Given the description of an element on the screen output the (x, y) to click on. 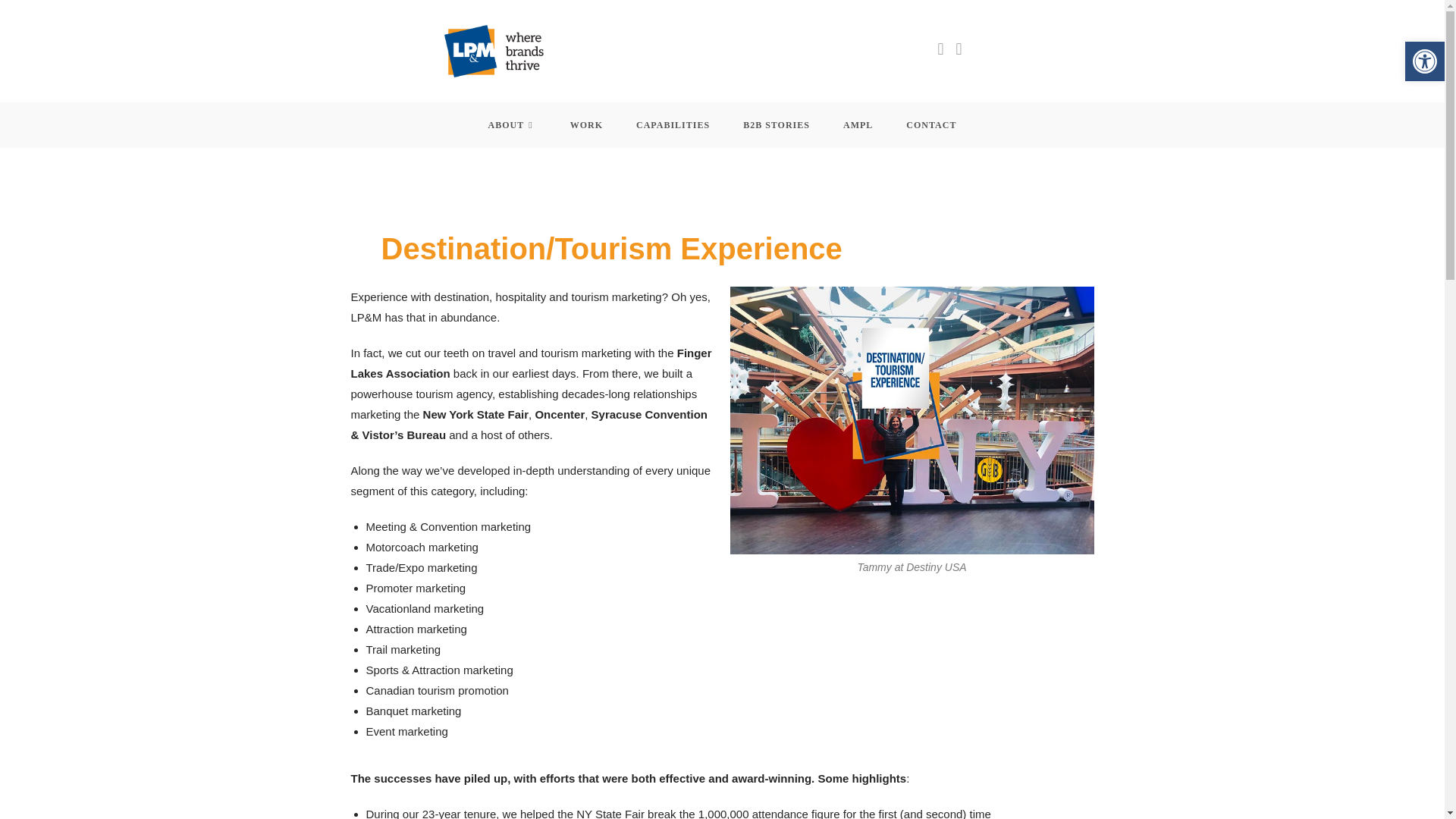
CONTACT (930, 125)
WORK (586, 125)
AMPL (858, 125)
B2B STORIES (776, 125)
Accessibility Tools (1424, 61)
ABOUT (1424, 61)
Accessibility Tools (512, 125)
CAPABILITIES (1424, 61)
